Given the description of an element on the screen output the (x, y) to click on. 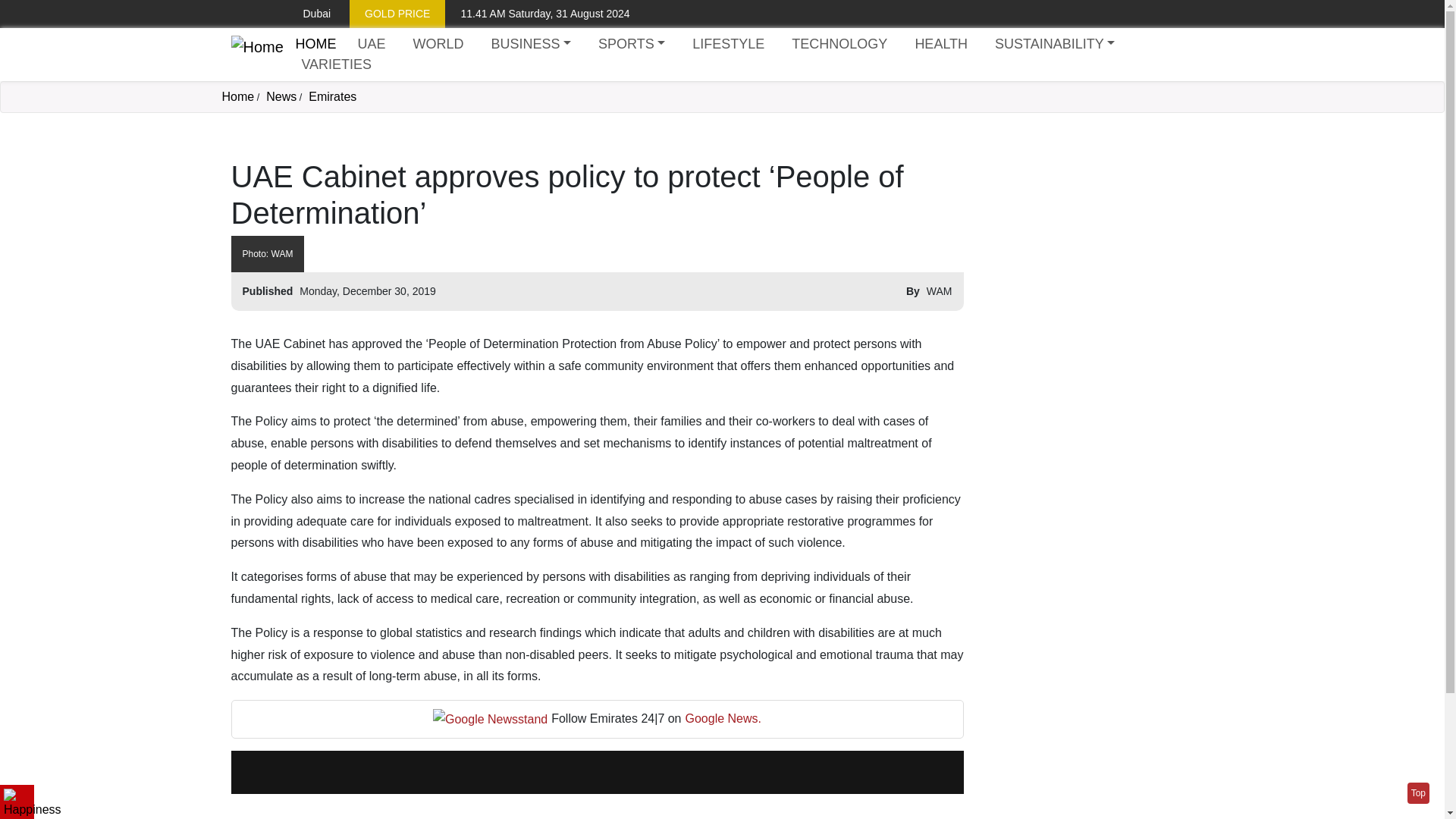
Home (315, 43)
UAE (370, 44)
VARIETIES (336, 64)
TECHNOLOGY (839, 44)
SPORTS (631, 44)
HEALTH (941, 44)
Home (256, 54)
HOME (315, 43)
Dubai (305, 13)
Go to top (1418, 792)
